Given the description of an element on the screen output the (x, y) to click on. 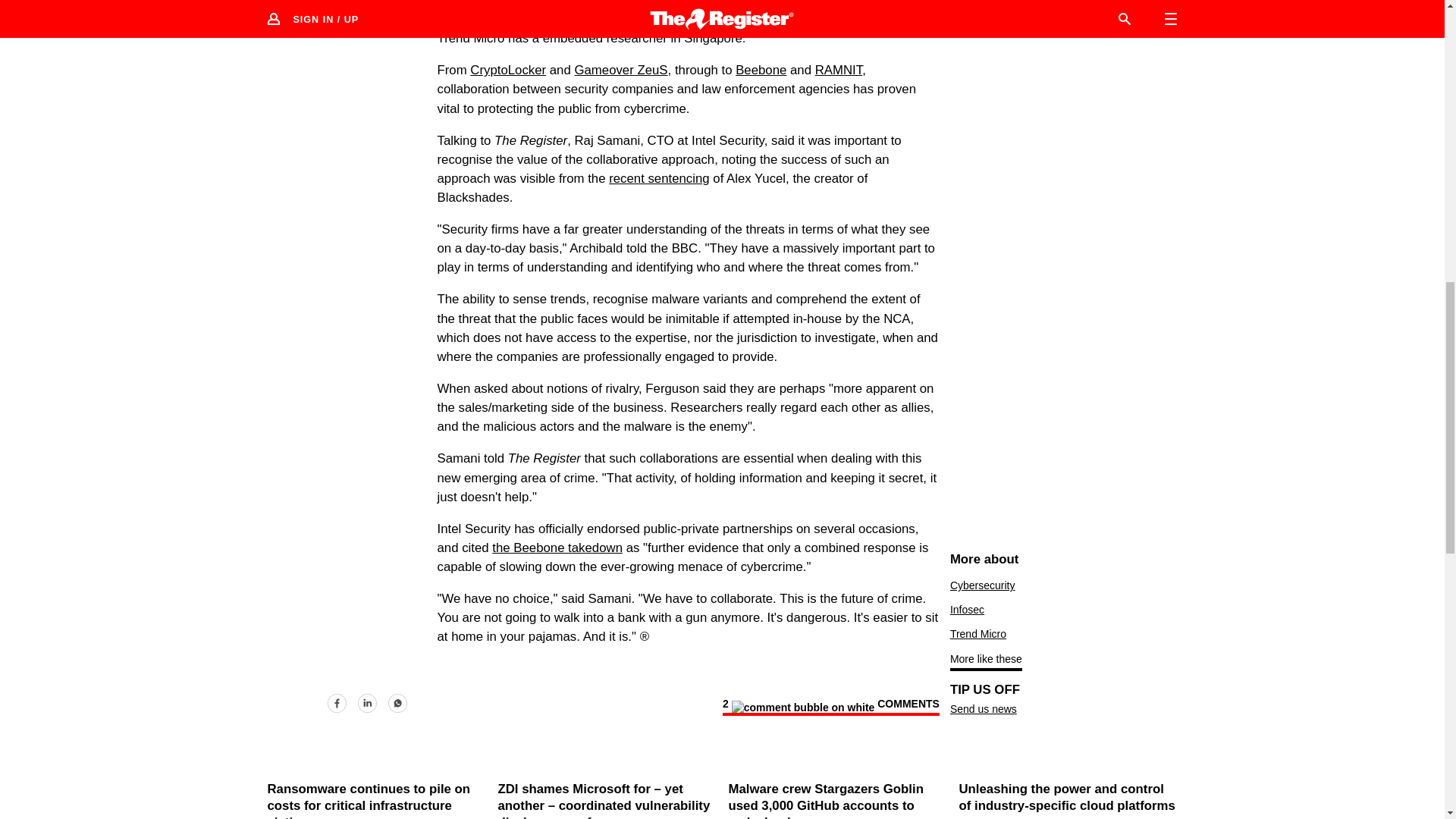
View comments on this article (830, 706)
